Given the description of an element on the screen output the (x, y) to click on. 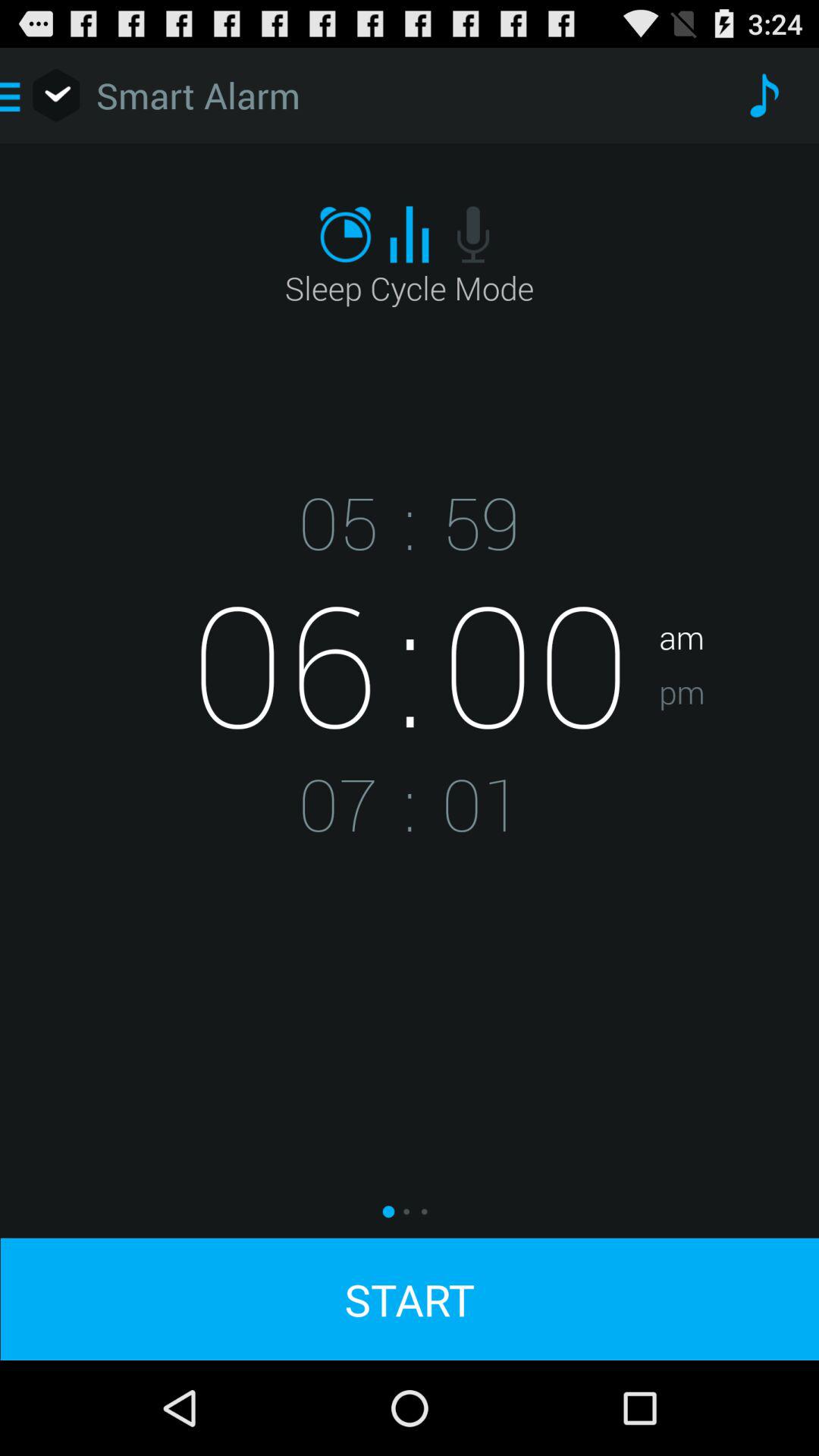
tap am icon (739, 589)
